Given the description of an element on the screen output the (x, y) to click on. 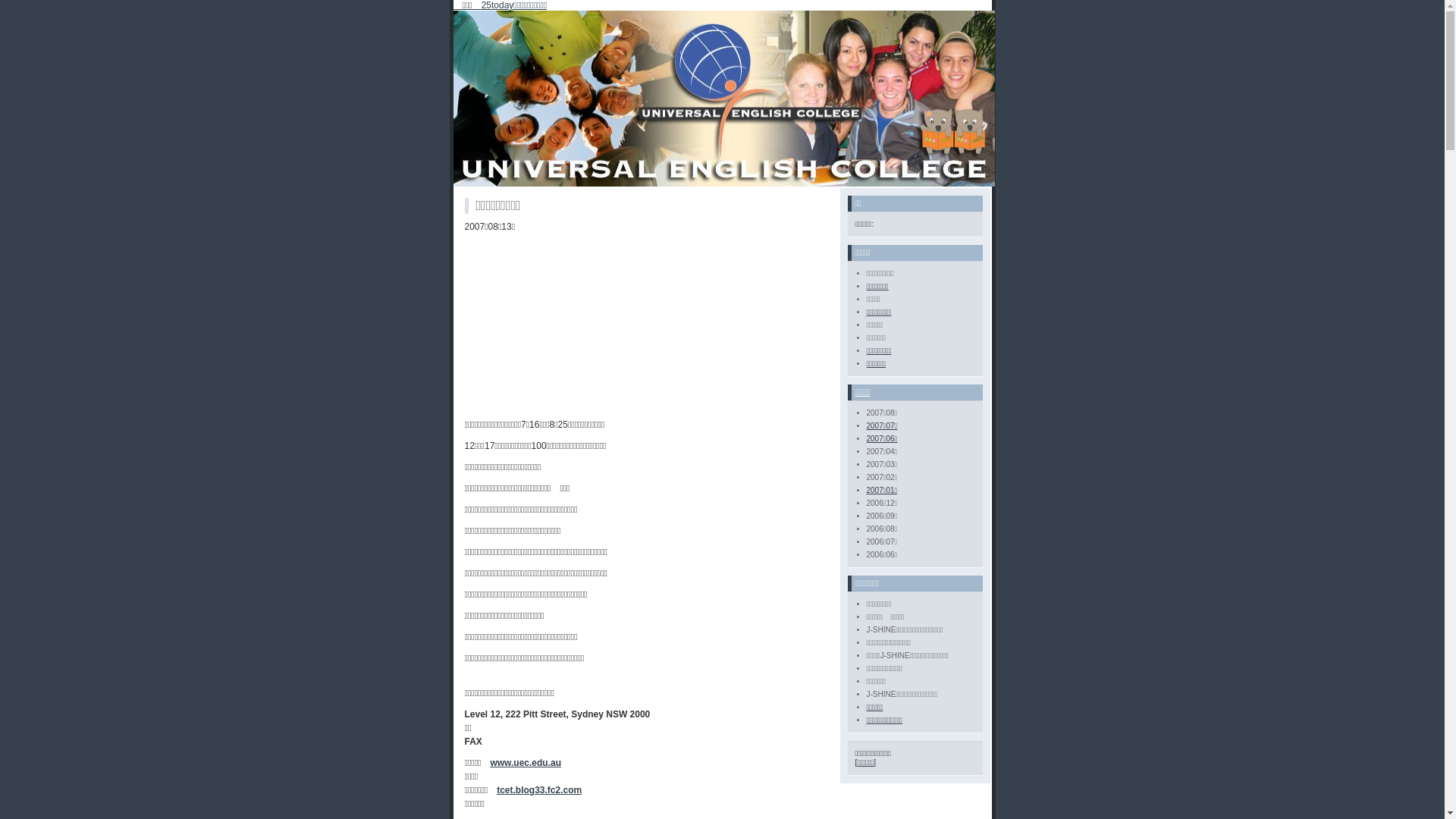
www.uec.edu.au Element type: text (525, 762)
tcet.blog33.fc2.com Element type: text (538, 789)
